Given the description of an element on the screen output the (x, y) to click on. 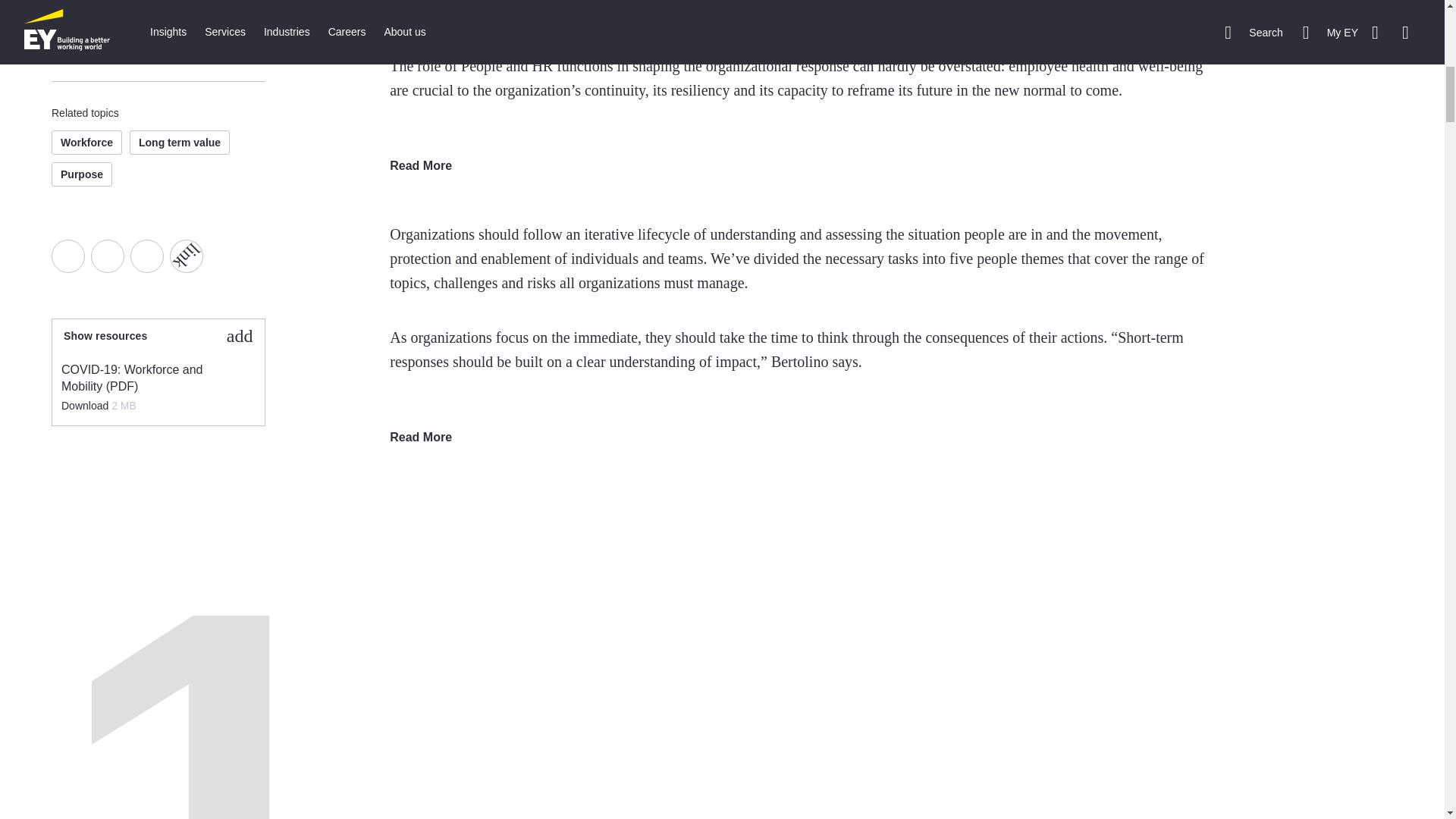
LinkedIn (147, 255)
Facebook (67, 255)
Copy (179, 249)
Twitter (106, 255)
Download (86, 405)
